Given the description of an element on the screen output the (x, y) to click on. 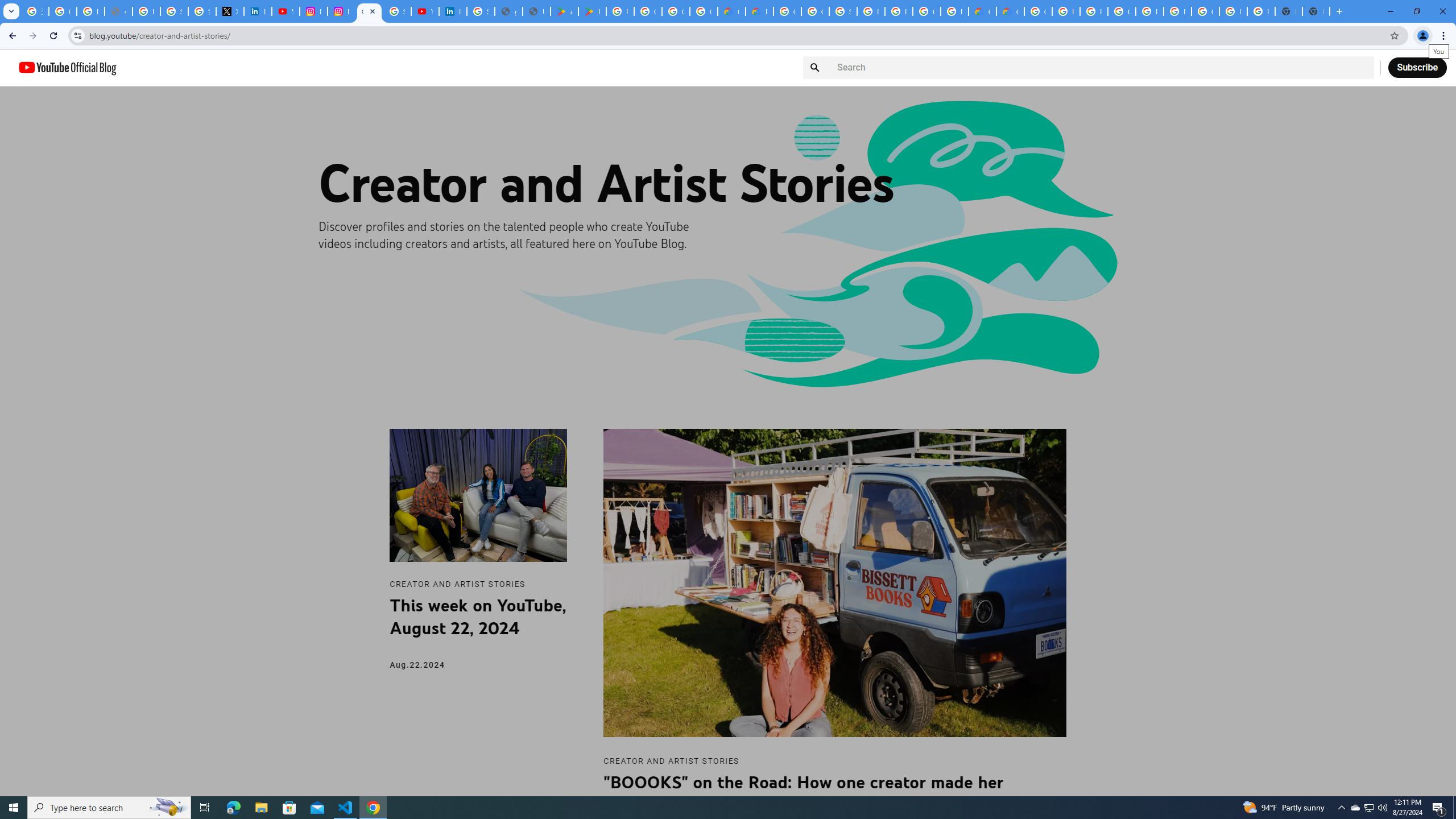
Customer Care | Google Cloud (982, 11)
Privacy Help Center - Policies Help (146, 11)
Close Search (1360, 67)
PAW Patrol Rescue World - Apps on Google Play (592, 11)
New Tab (1316, 11)
